Given the description of an element on the screen output the (x, y) to click on. 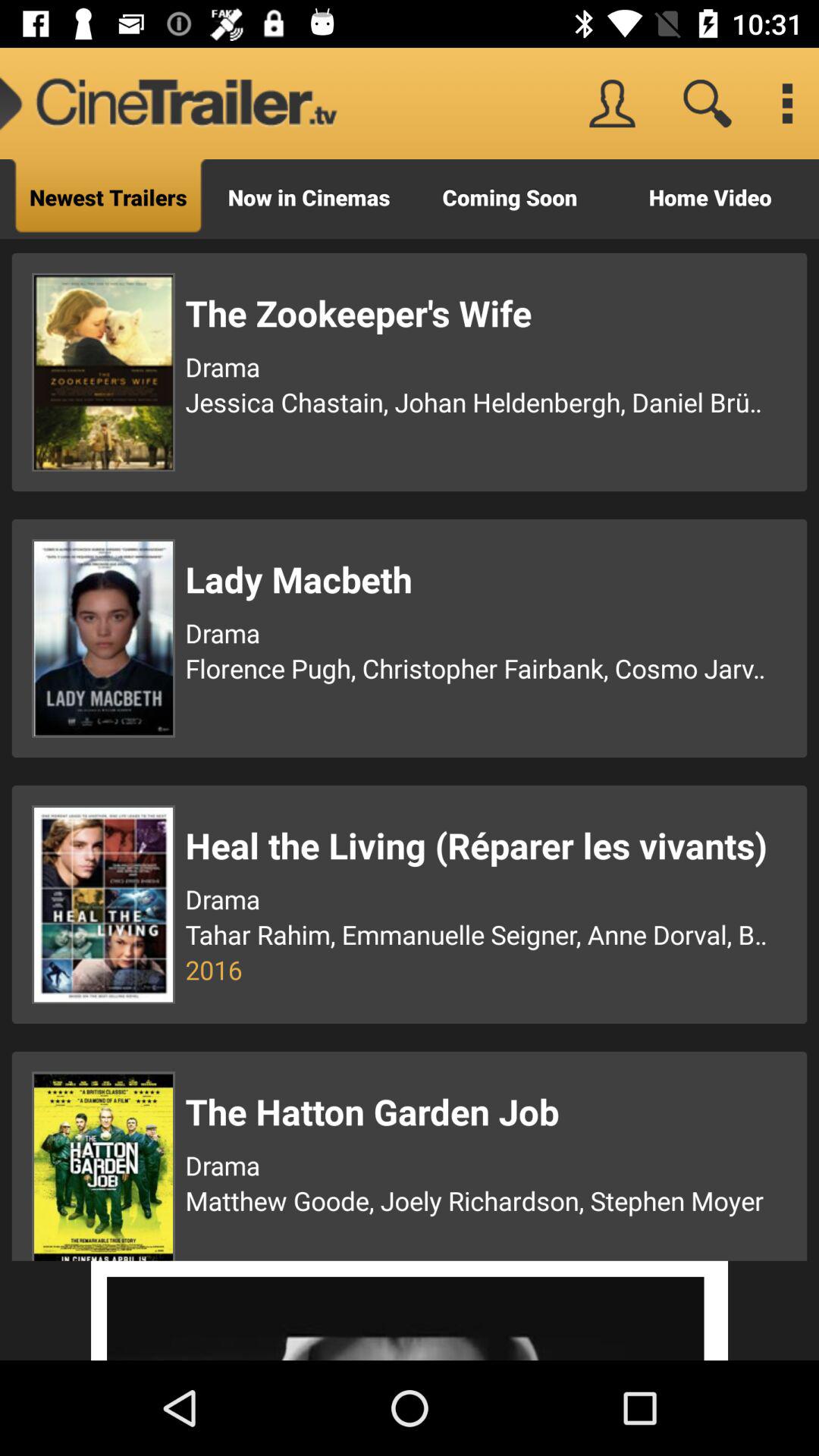
more options (787, 103)
